Given the description of an element on the screen output the (x, y) to click on. 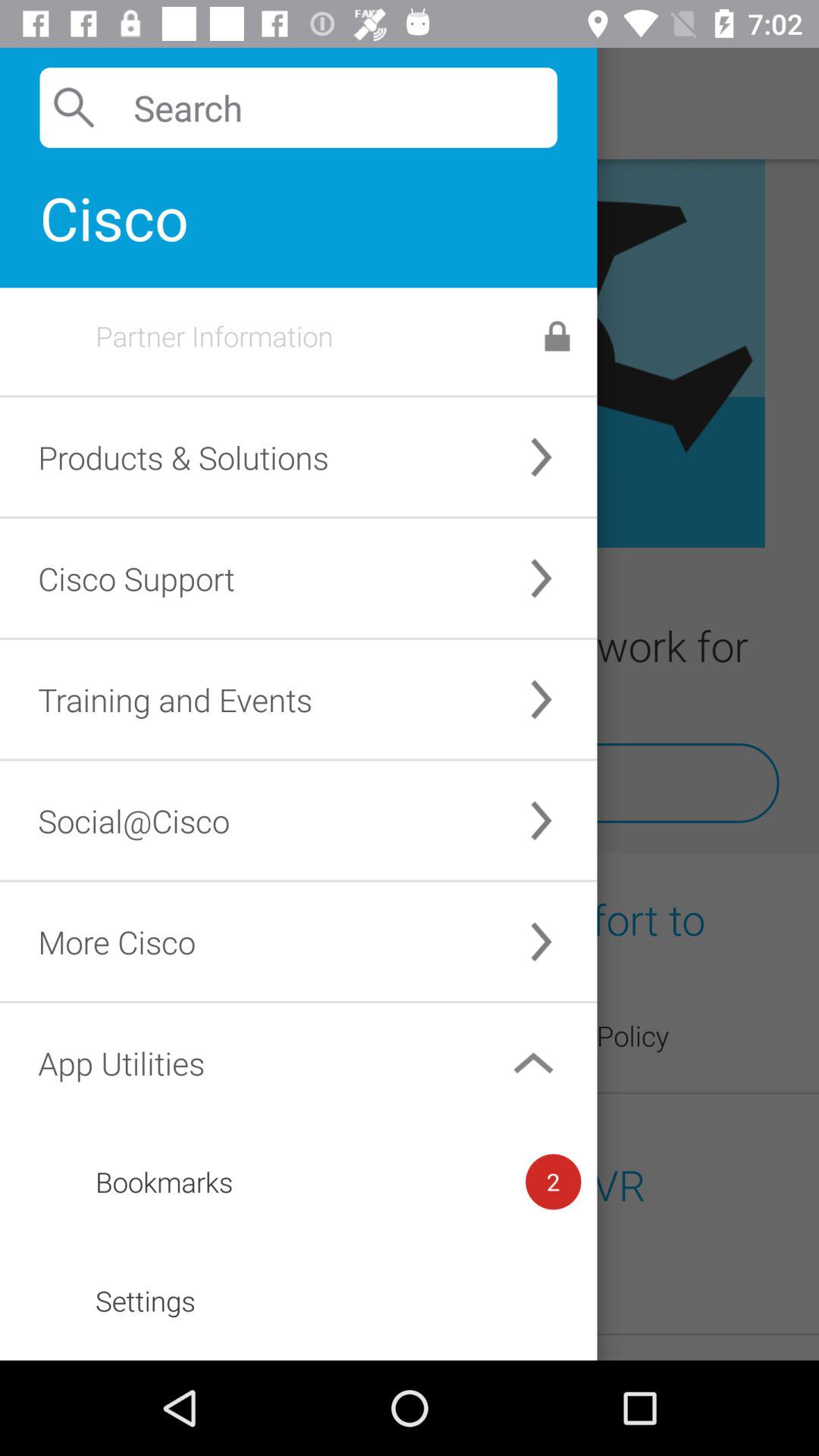
select the arrow icon  beside products  solutions text (541, 457)
